Given the description of an element on the screen output the (x, y) to click on. 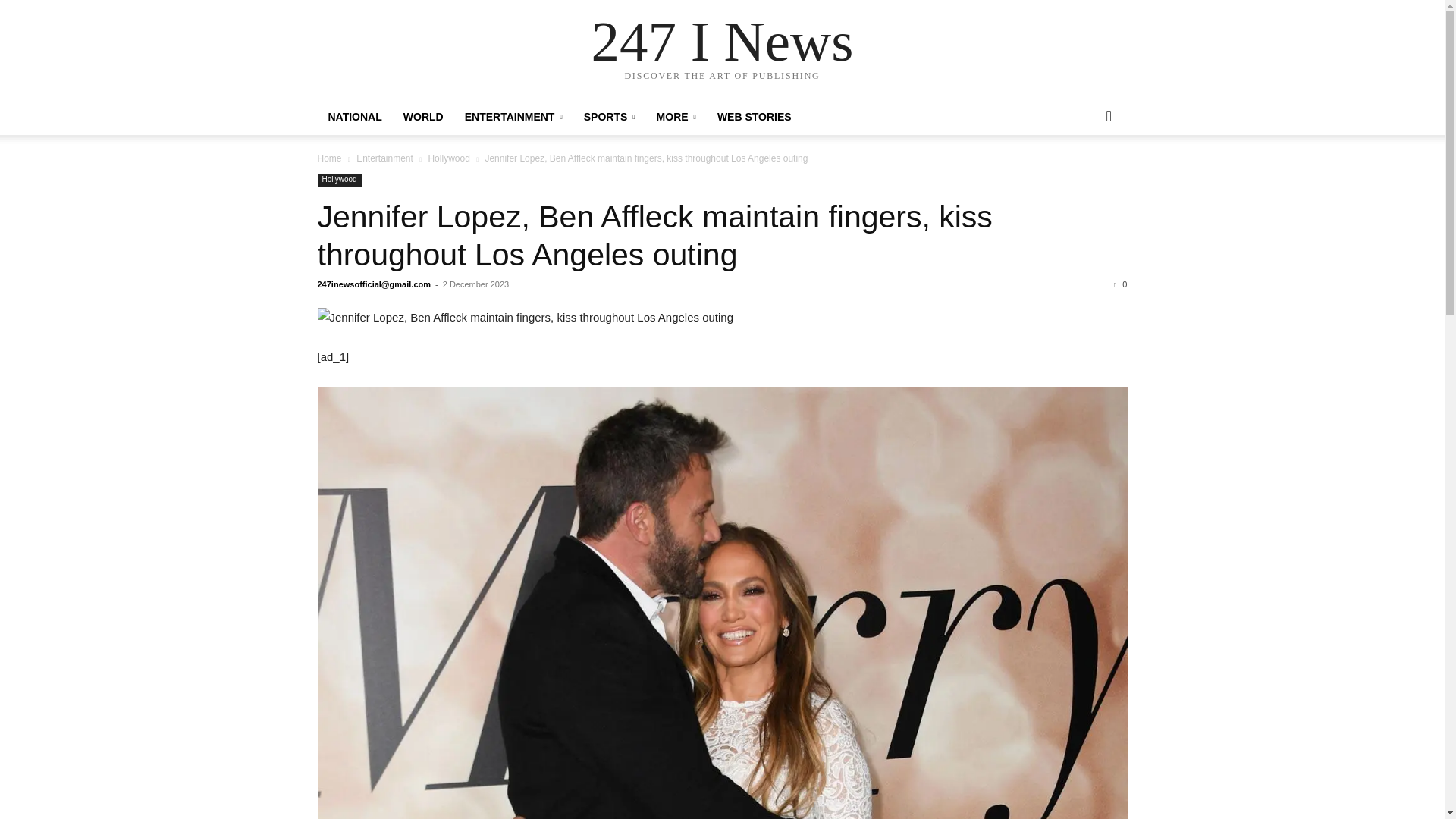
247 I News (722, 41)
MORE (676, 116)
Home (328, 158)
Search (1085, 177)
WORLD (423, 116)
SPORTS (609, 116)
WEB STORIES (754, 116)
NATIONAL (354, 116)
View all posts in Entertainment (384, 158)
